Given the description of an element on the screen output the (x, y) to click on. 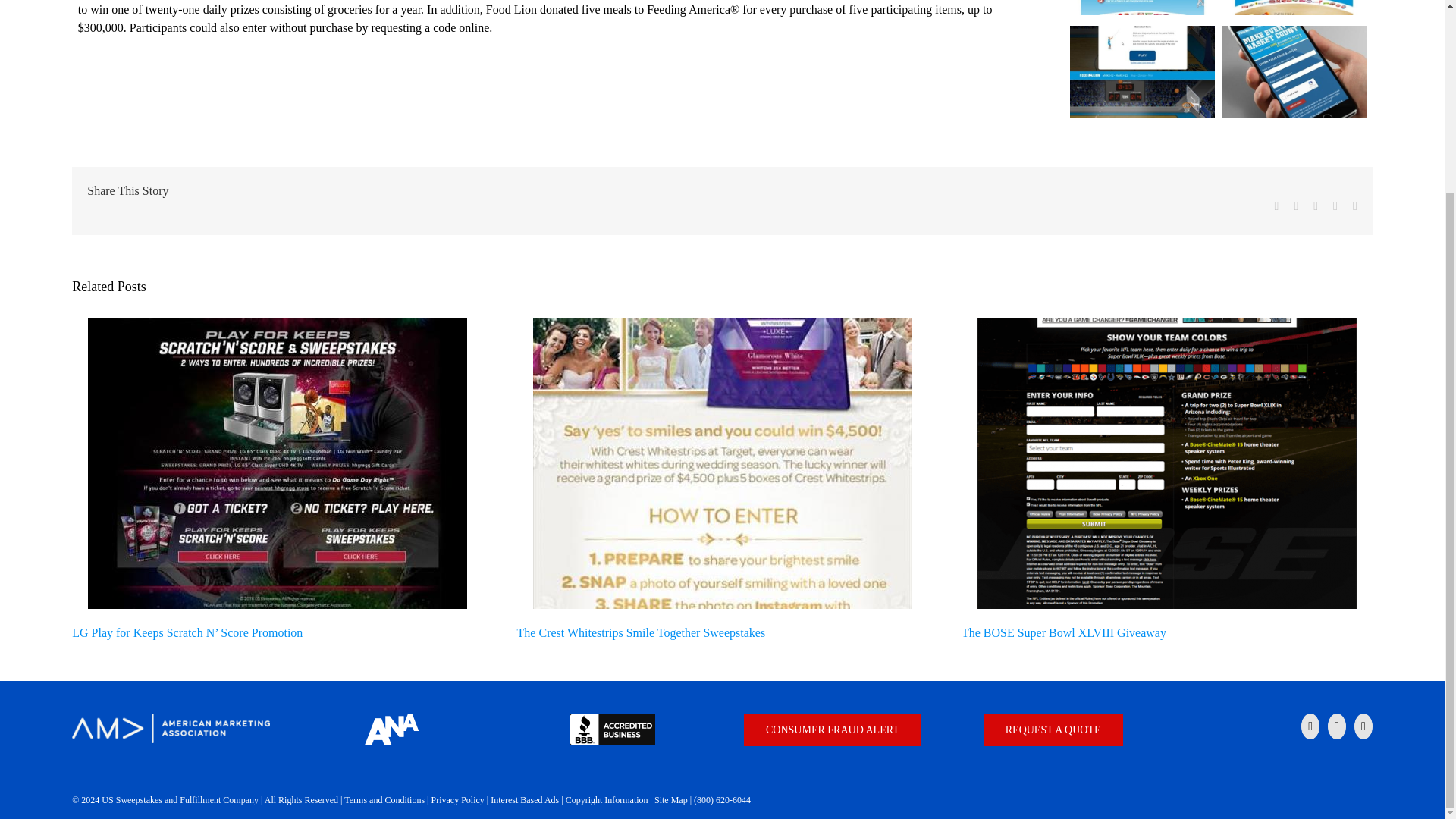
The Crest Whitestrips Smile Together Sweepstakes (640, 632)
FoodLion-CaseStudyImage-04m (1293, 73)
The BOSE Super Bowl XLVIII Giveaway (1063, 632)
FoodLion-CaseStudyImage-01 (1142, 9)
FoodLion-CaseStudyImage-02 (1293, 9)
FoodLion-CaseStudyImage-03 (1142, 73)
